Given the description of an element on the screen output the (x, y) to click on. 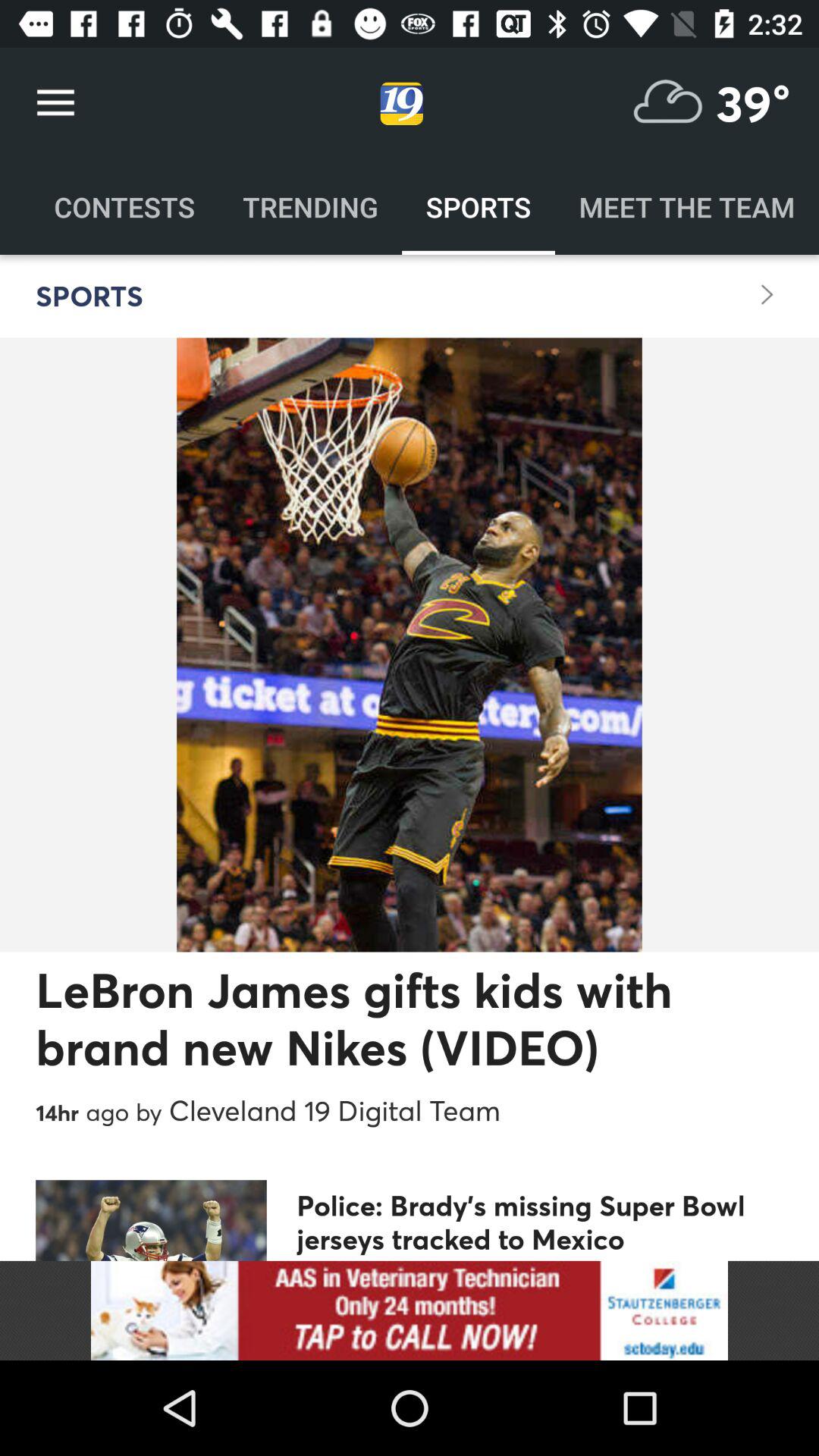
go to advertisement (409, 1310)
